Given the description of an element on the screen output the (x, y) to click on. 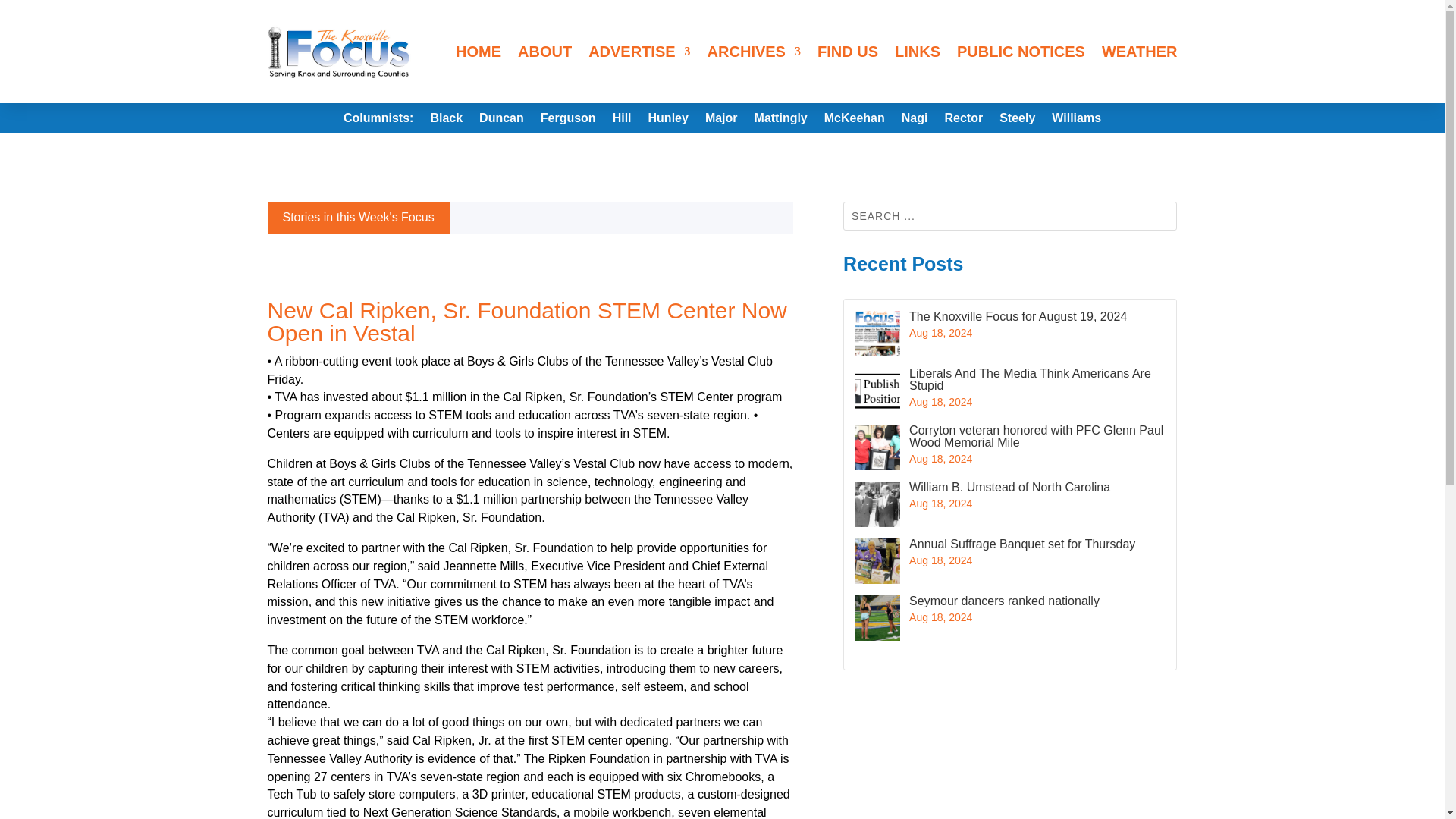
ARCHIVES (753, 51)
ABOUT (545, 51)
ADVERTISE (639, 51)
PUBLIC NOTICES (1020, 51)
WEATHER (1139, 51)
FIND US (846, 51)
